Given the description of an element on the screen output the (x, y) to click on. 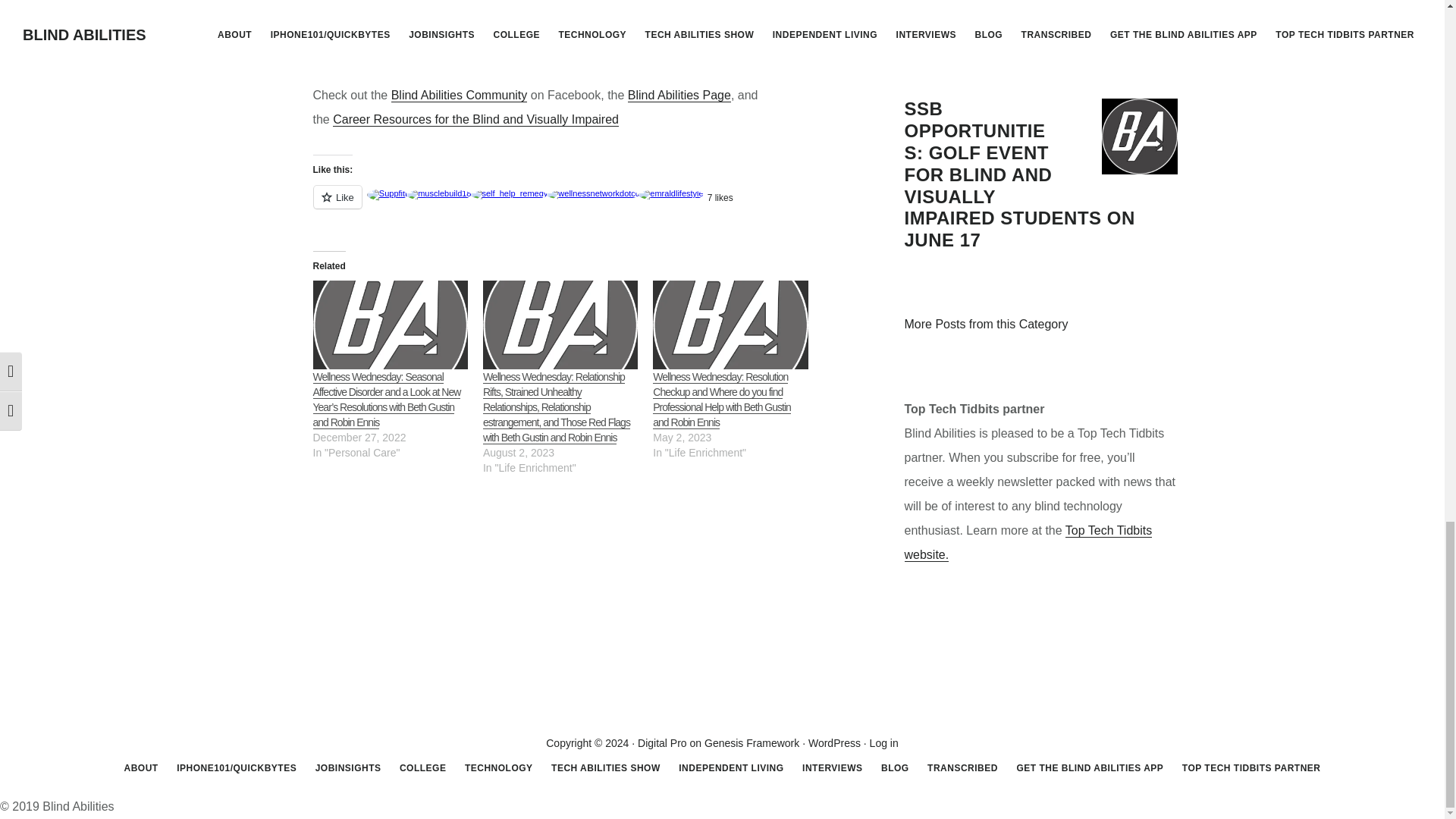
Like or Reblog (562, 205)
Free Blind Abilities App on the App Store (464, 4)
Google Play Store (645, 4)
Blind Abilities Community (459, 95)
